Given the description of an element on the screen output the (x, y) to click on. 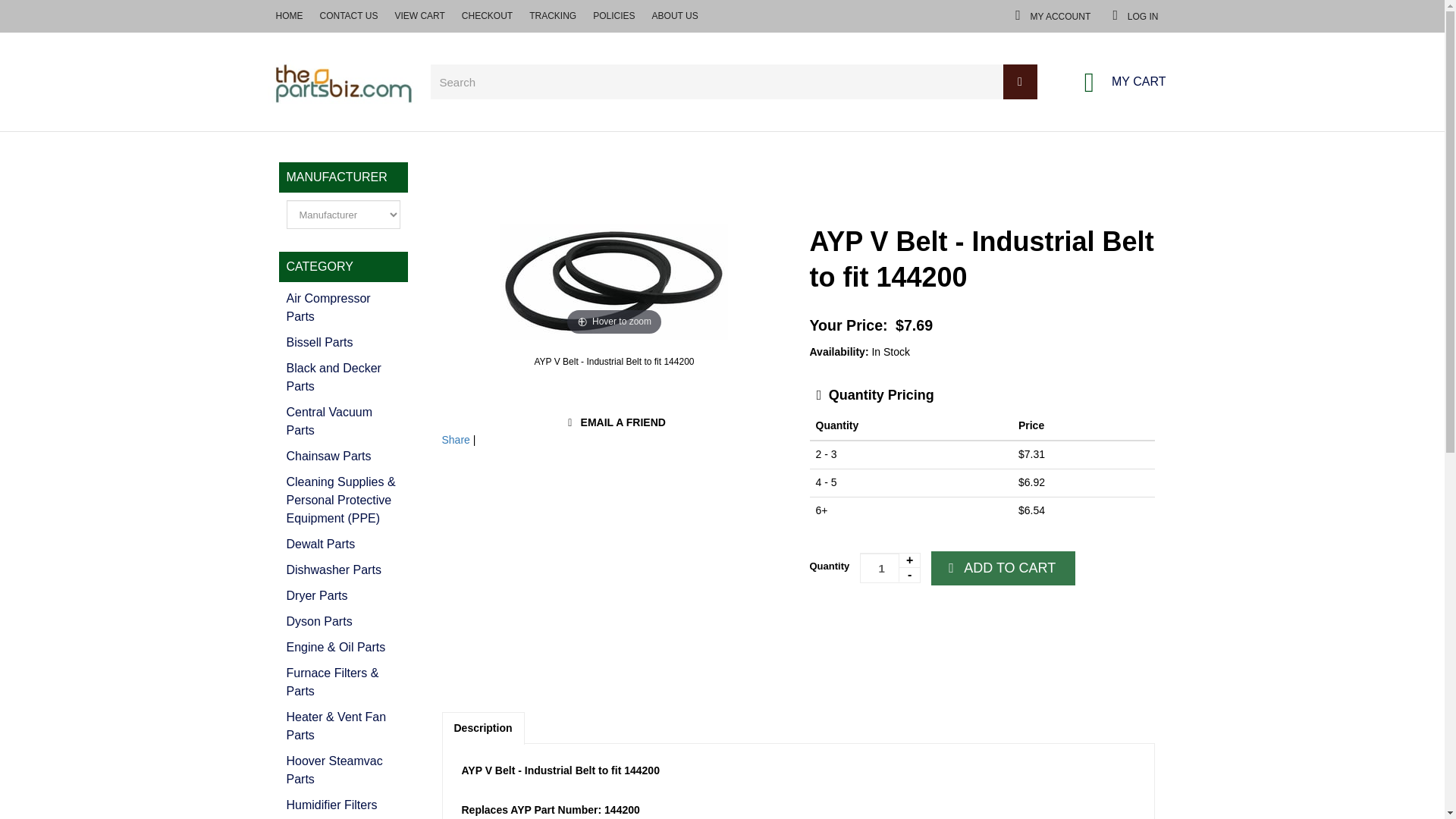
Humidifier Filters (343, 805)
Bissell Parts (343, 342)
Hoover Steamvac Parts (343, 770)
Dryer Parts (1178, 15)
Dewalt Parts (343, 596)
Chainsaw Parts (343, 544)
1 (343, 456)
PayPal (1278, 15)
Air Compressor Parts (890, 567)
AYP V Belt - Industrial Belt to fit 144200  (903, 624)
CHECKOUT (343, 307)
TRACKING (613, 361)
ABOUT US (35, 15)
